Given the description of an element on the screen output the (x, y) to click on. 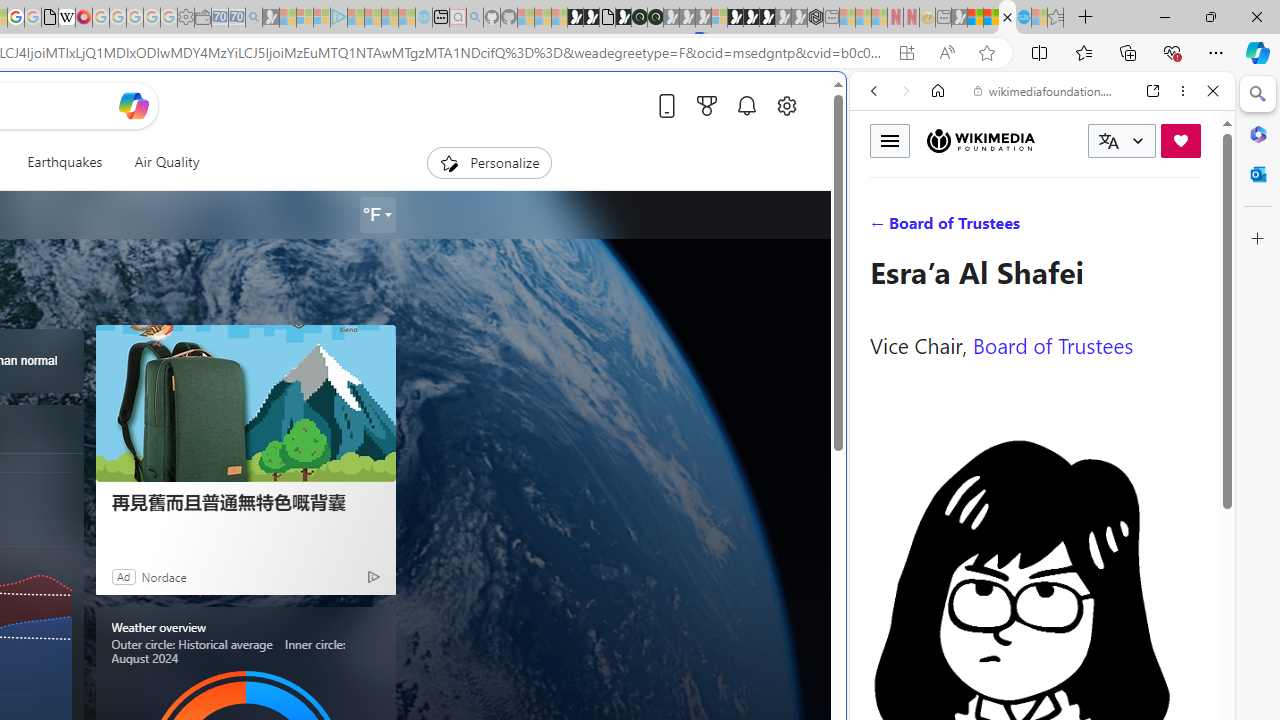
Close split screen (844, 102)
